Given the description of an element on the screen output the (x, y) to click on. 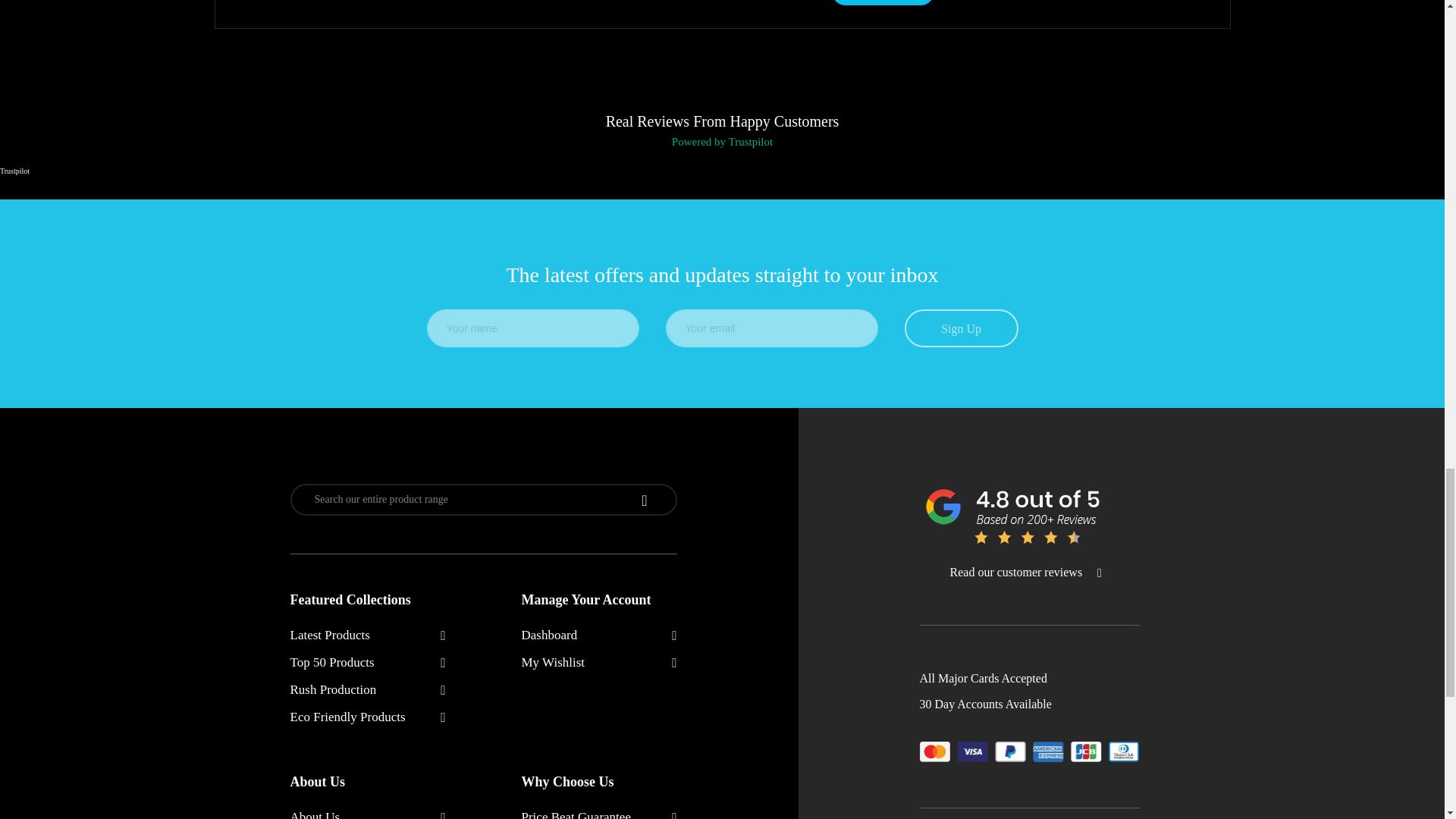
Sign Up (960, 328)
